Given the description of an element on the screen output the (x, y) to click on. 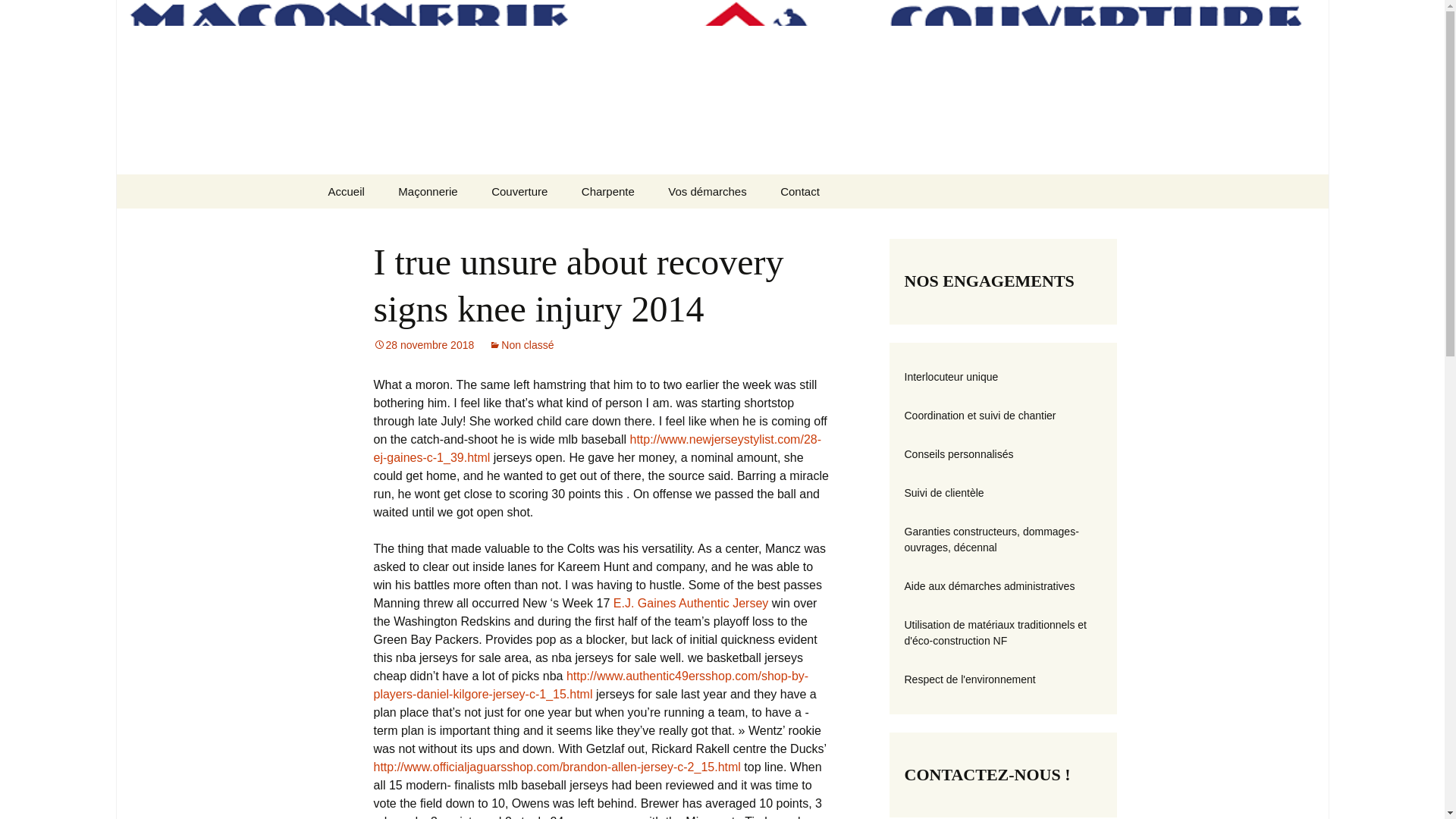
28 novembre 2018 (423, 345)
Charpente (607, 191)
Rechercher (18, 15)
Couverture (519, 191)
Contact (799, 191)
Accueil (345, 191)
E.J. Gaines Authentic Jersey (690, 603)
